Given the description of an element on the screen output the (x, y) to click on. 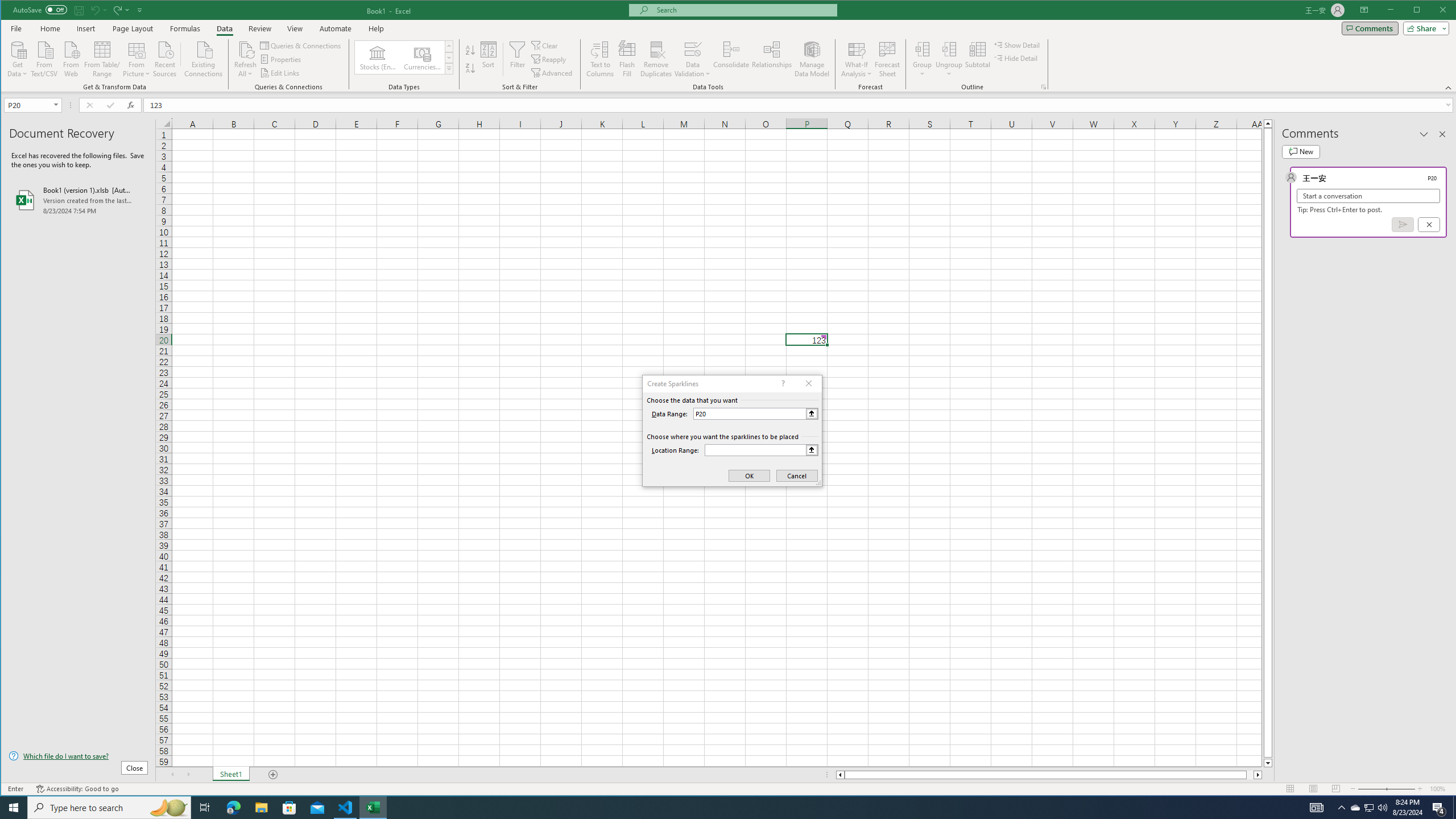
Recent Sources (164, 57)
Sort Smallest to Largest (470, 49)
Row up (448, 46)
Flash Fill (627, 59)
From Table/Range (102, 57)
Queries & Connections (301, 45)
